Given the description of an element on the screen output the (x, y) to click on. 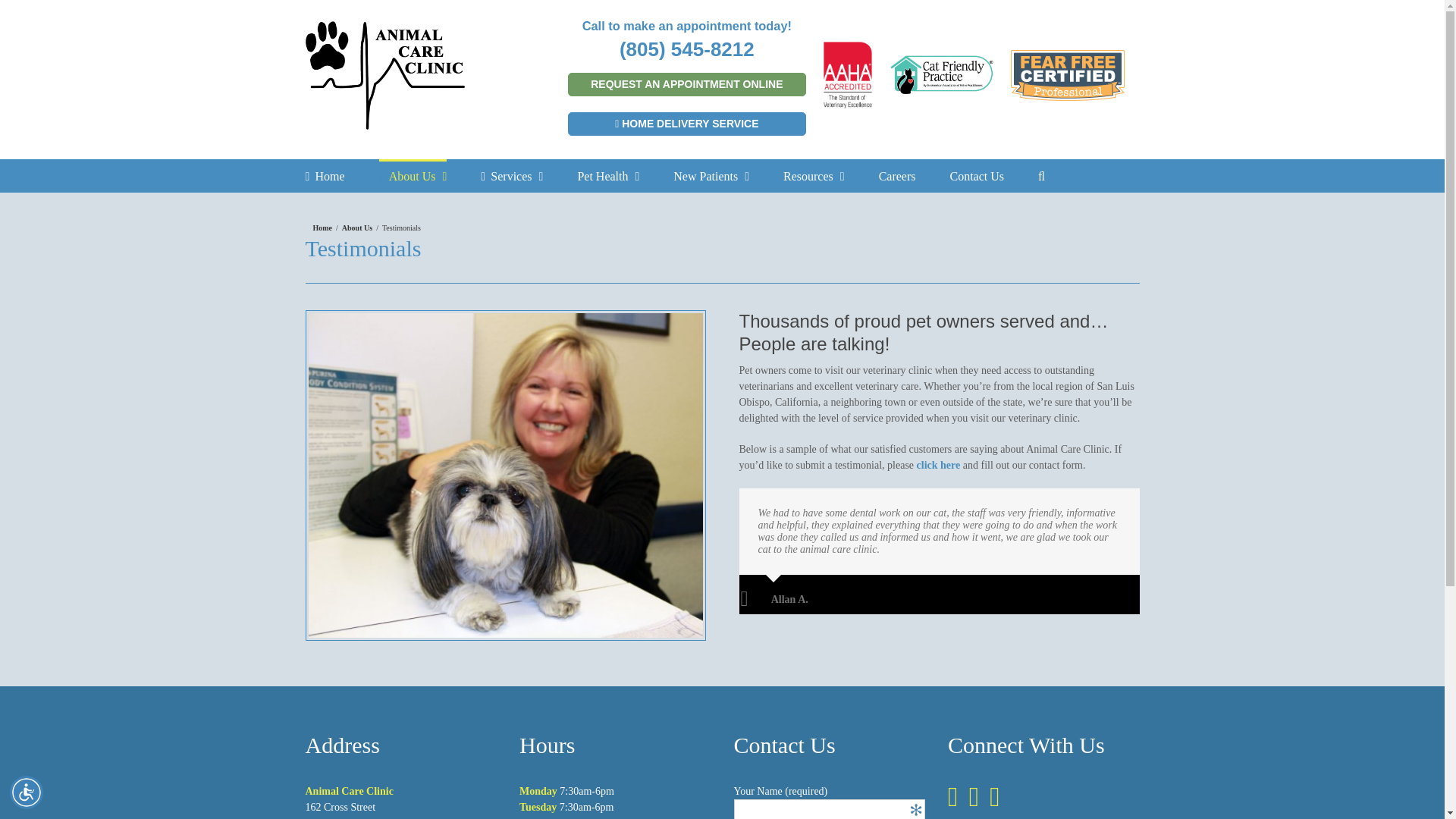
 HOME DELIVERY SERVICE (686, 123)
Accessibility Menu (26, 792)
REQUEST AN APPOINTMENT ONLINE (686, 84)
Pet Health (607, 174)
About Us (412, 174)
client-and-little-dog (504, 475)
Services (511, 174)
Home (323, 174)
